Given the description of an element on the screen output the (x, y) to click on. 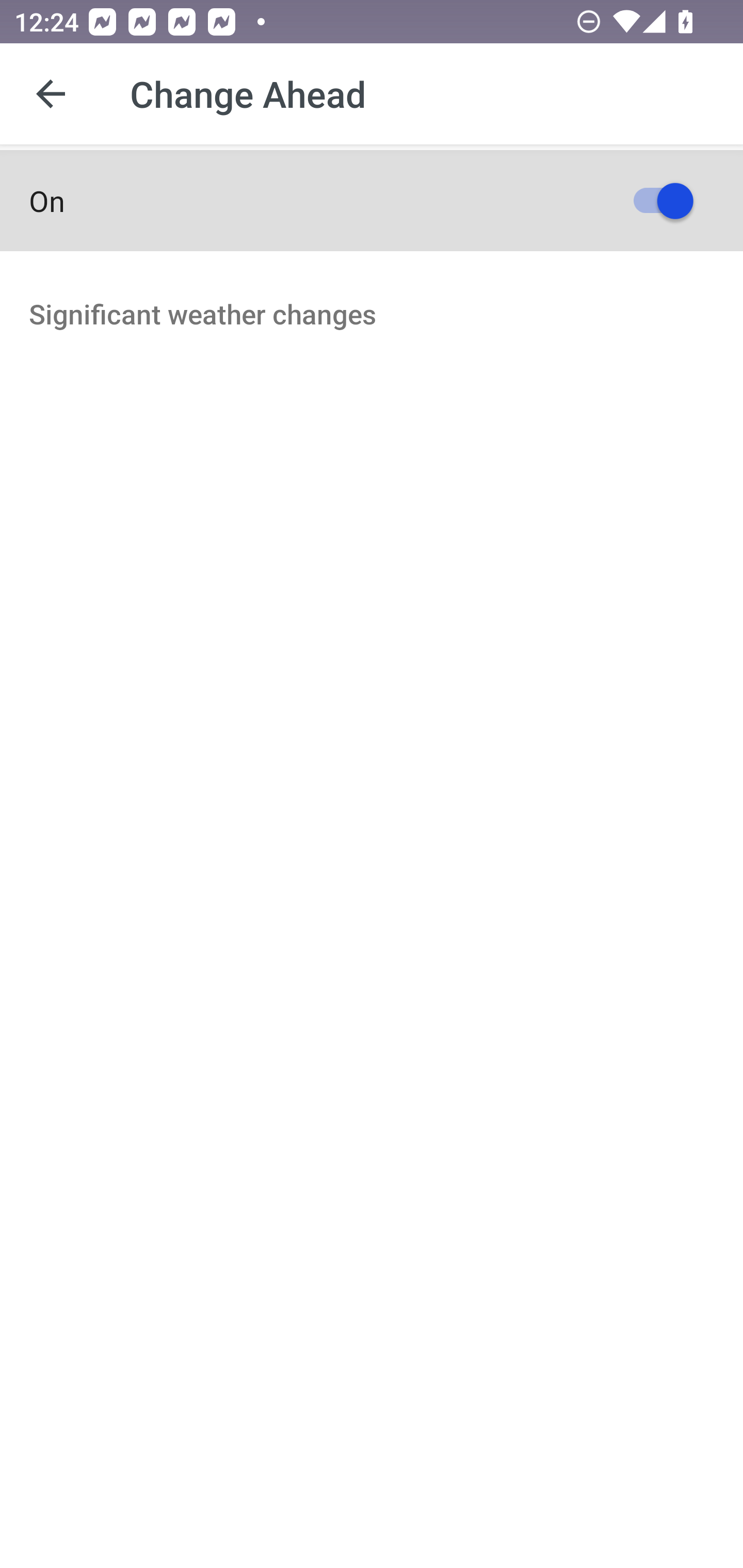
Navigate up (50, 93)
On Significant weather changes (371, 307)
On (371, 200)
